Given the description of an element on the screen output the (x, y) to click on. 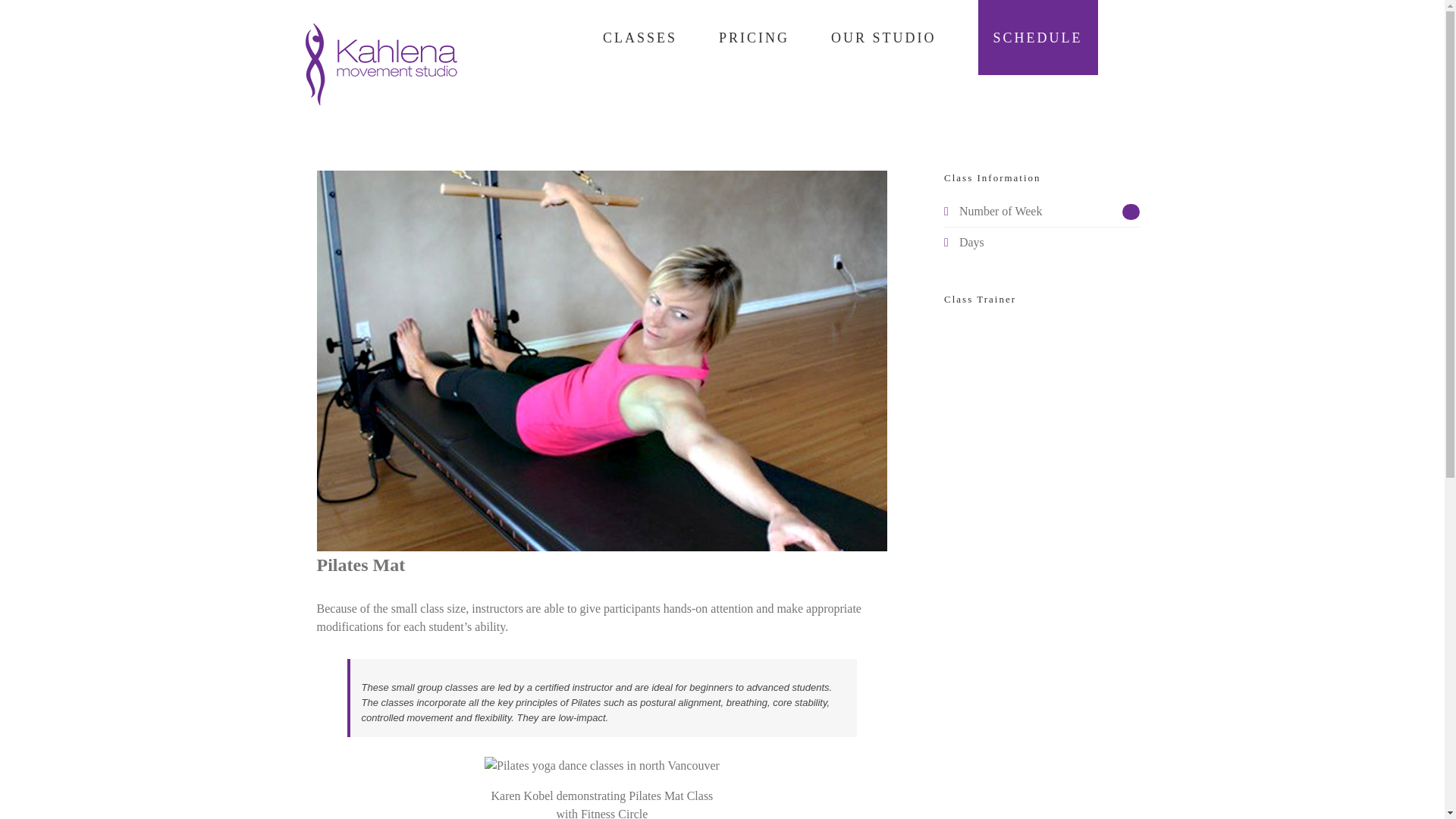
SCHEDULE (1037, 37)
PRICING (754, 37)
CLASSES (639, 37)
OUR STUDIO (883, 37)
